Given the description of an element on the screen output the (x, y) to click on. 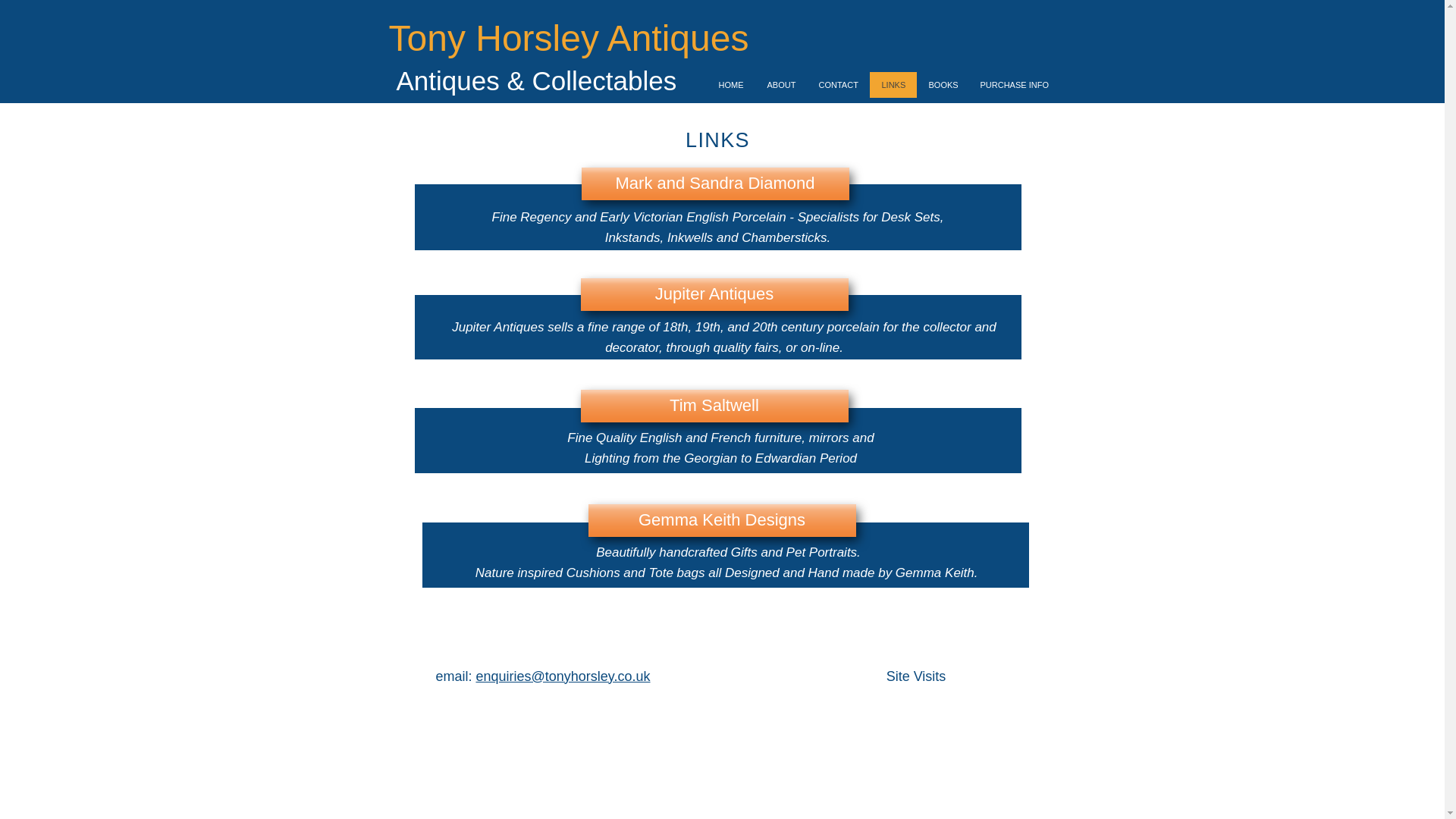
BOOKS (941, 84)
Gemma Keith Designs (722, 520)
Mark and Sandra Diamond (714, 183)
HOME (730, 84)
Jupiter Antiques (714, 294)
CONTACT (837, 84)
Tim Saltwell (714, 405)
PURCHASE INFO (1012, 84)
LINKS (892, 84)
ABOUT (780, 84)
